Given the description of an element on the screen output the (x, y) to click on. 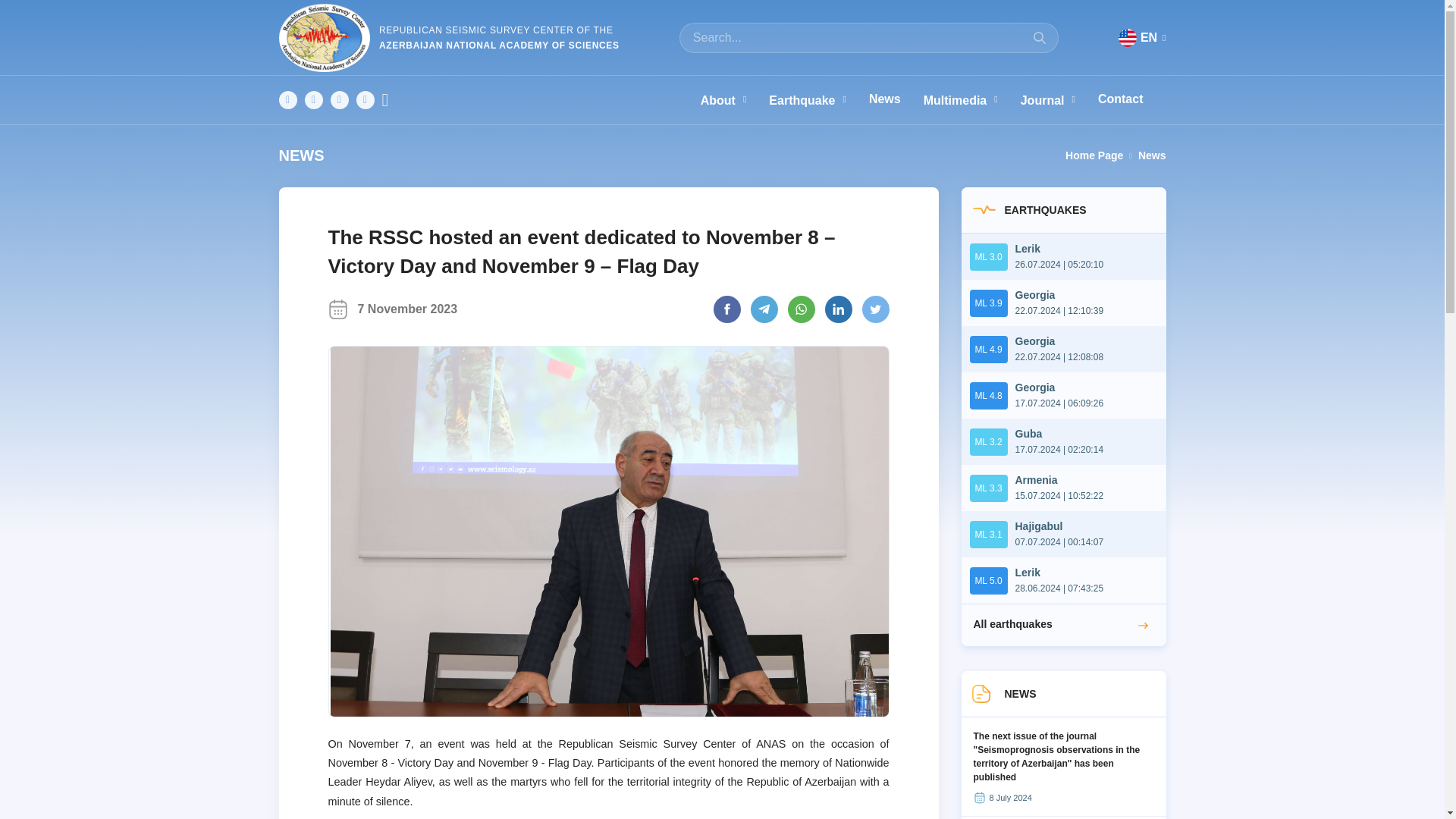
Youtube (339, 99)
About (735, 99)
Facebook (288, 99)
News (896, 98)
Multimedia (971, 99)
Instagram (313, 99)
Telegram (390, 99)
Earthquake (818, 99)
Twitter (365, 99)
